Given the description of an element on the screen output the (x, y) to click on. 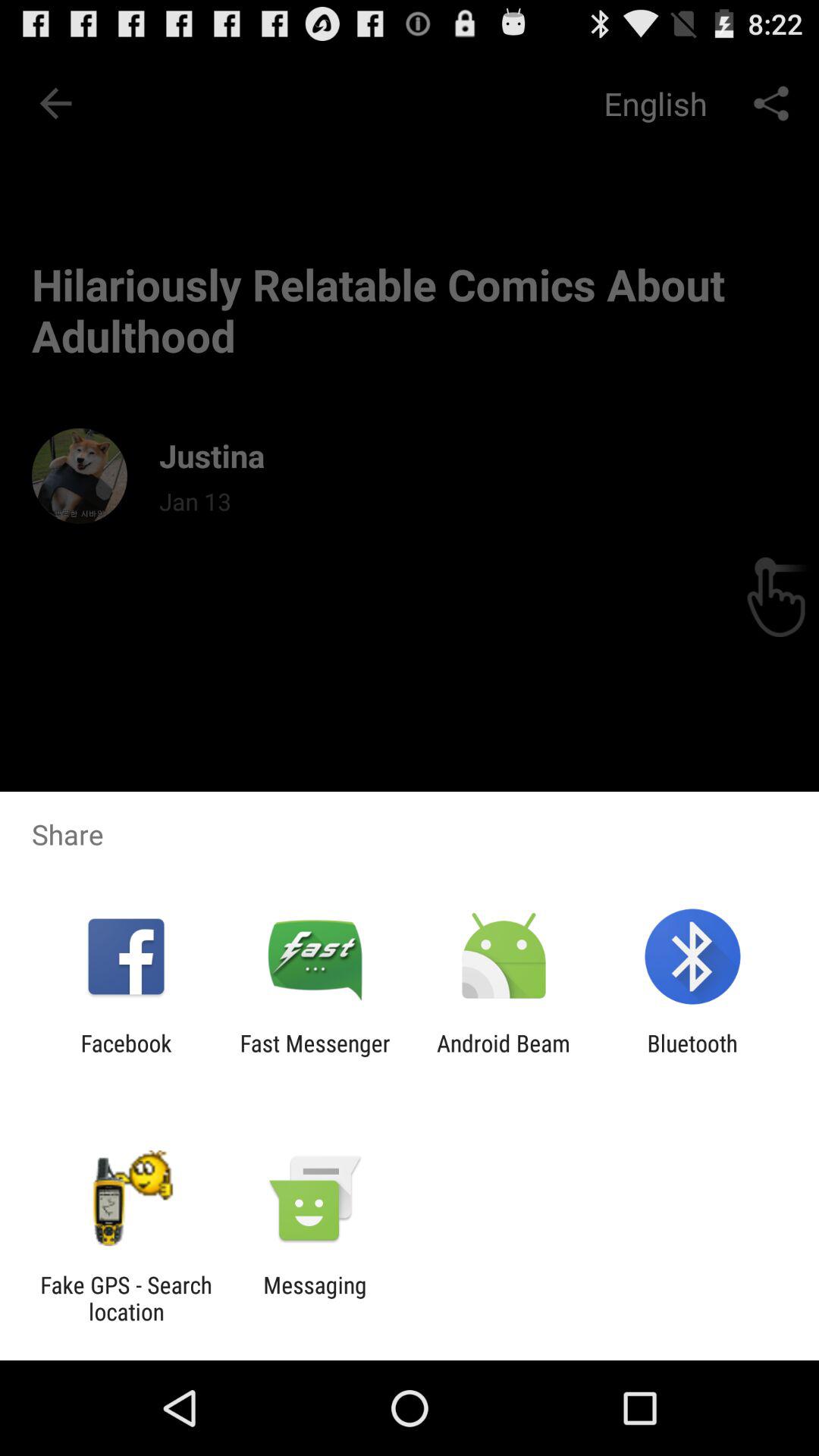
press the app at the bottom right corner (692, 1056)
